Given the description of an element on the screen output the (x, y) to click on. 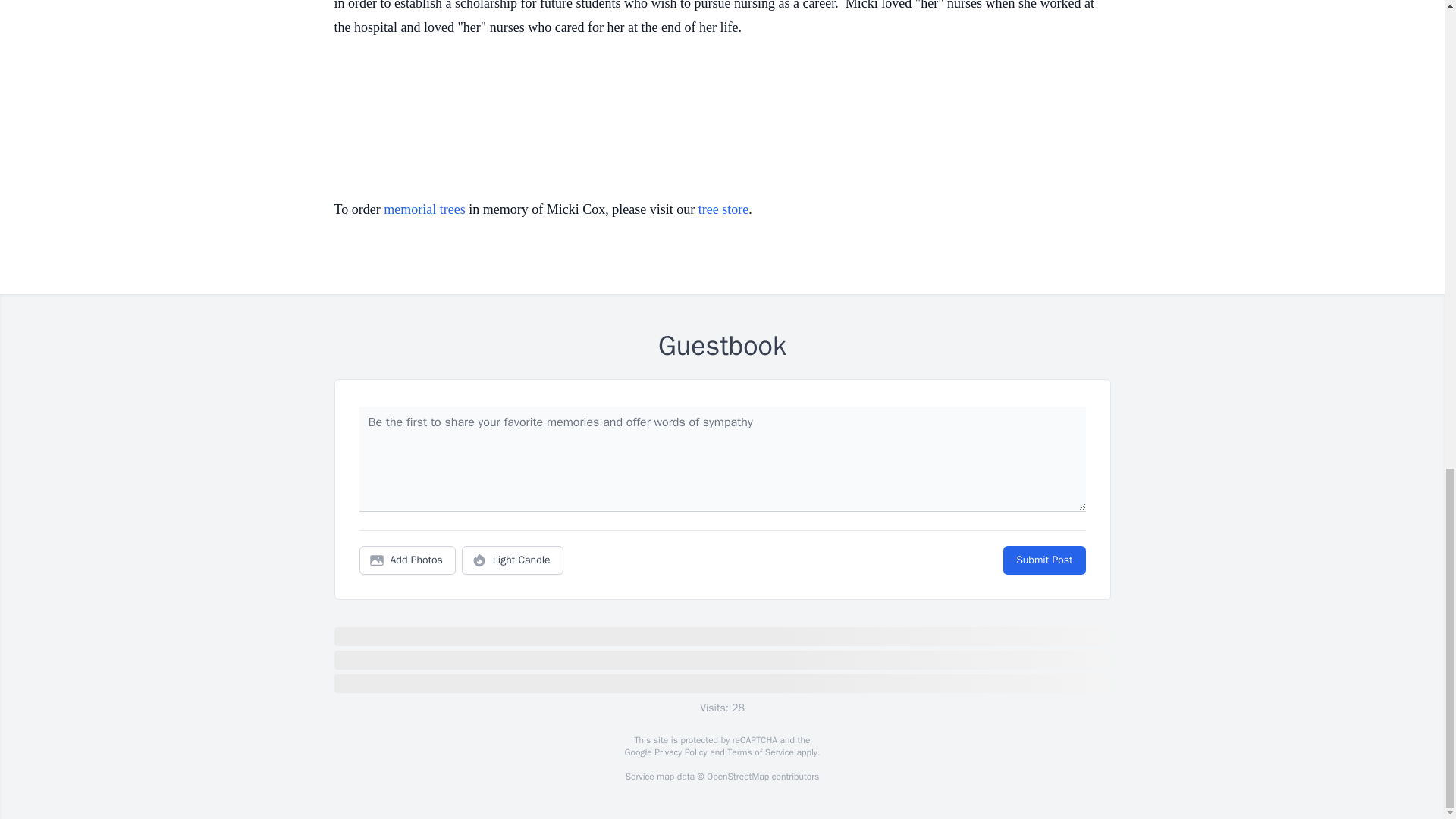
Terms of Service (759, 752)
Privacy Policy (679, 752)
Add Photos (407, 560)
Light Candle (512, 560)
memorial trees (424, 209)
Submit Post (1043, 560)
OpenStreetMap (737, 776)
tree store (723, 209)
